Given the description of an element on the screen output the (x, y) to click on. 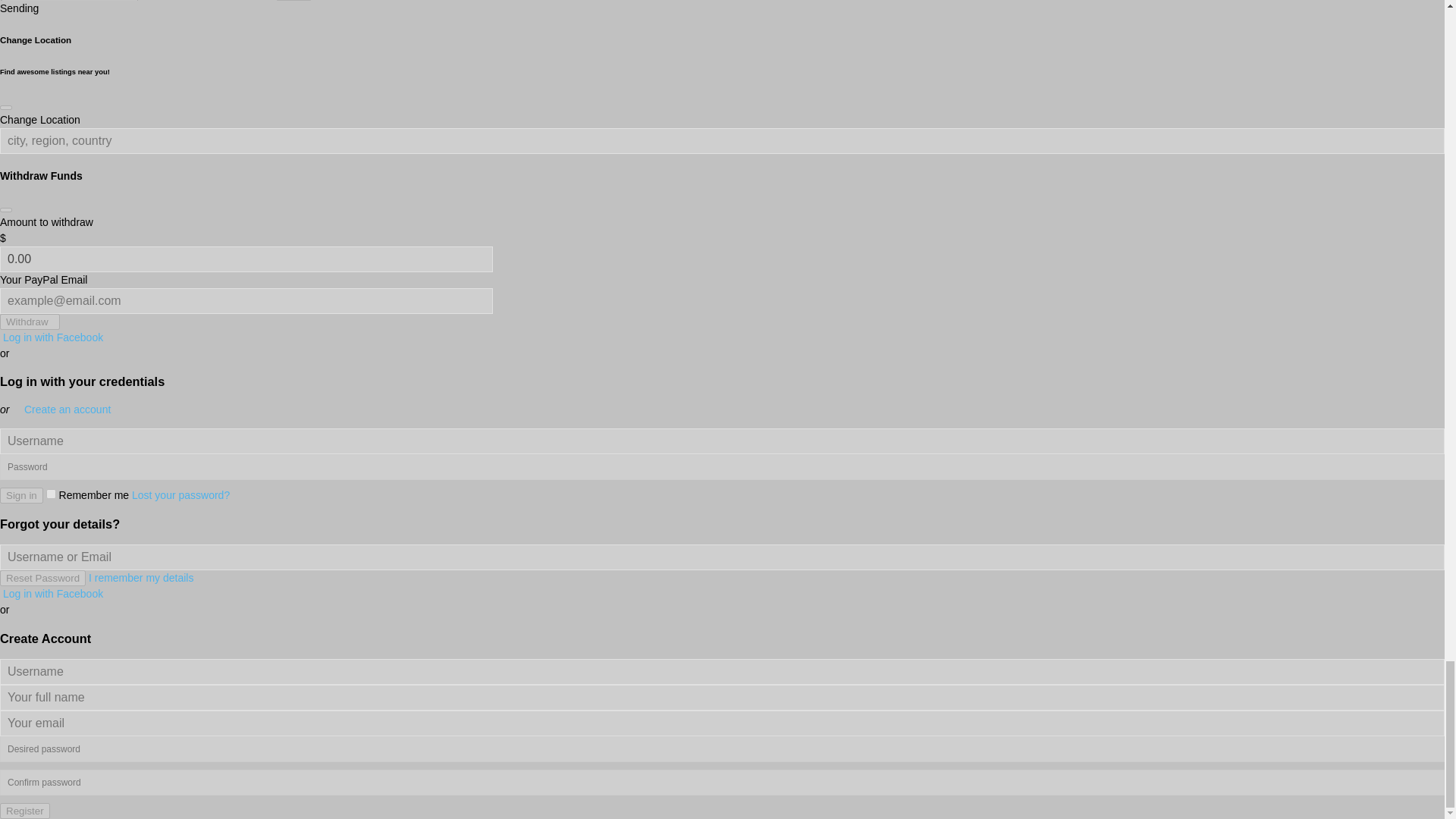
forever (51, 493)
0.00 (246, 258)
